Given the description of an element on the screen output the (x, y) to click on. 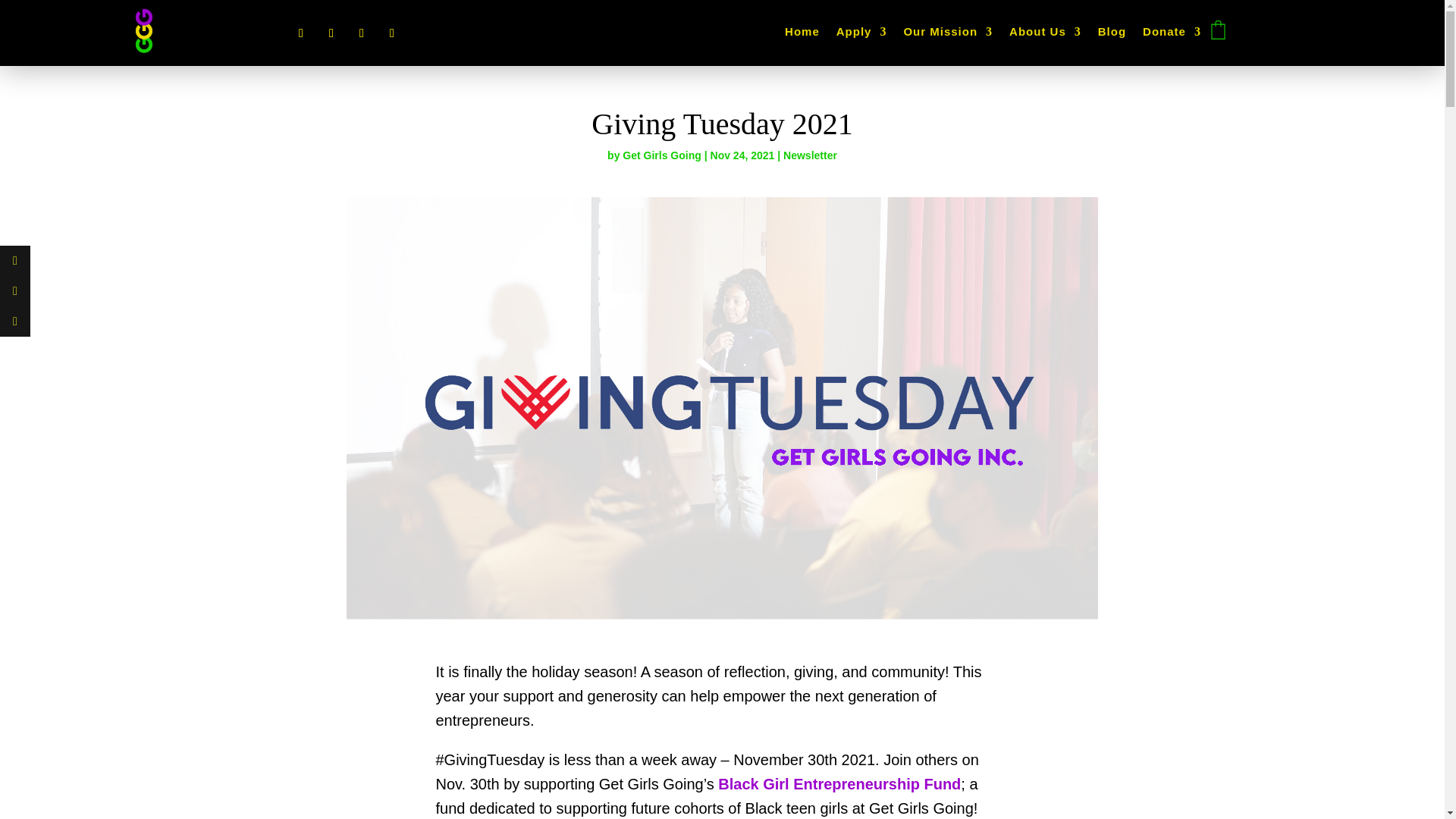
Our Mission (947, 34)
About Us (1045, 34)
Follow on Youtube (392, 33)
Follow on X (330, 33)
Apply (860, 34)
Home (801, 34)
Follow on Facebook (300, 33)
Follow on Instagram (361, 33)
Posts by Get Girls Going (661, 155)
